Given the description of an element on the screen output the (x, y) to click on. 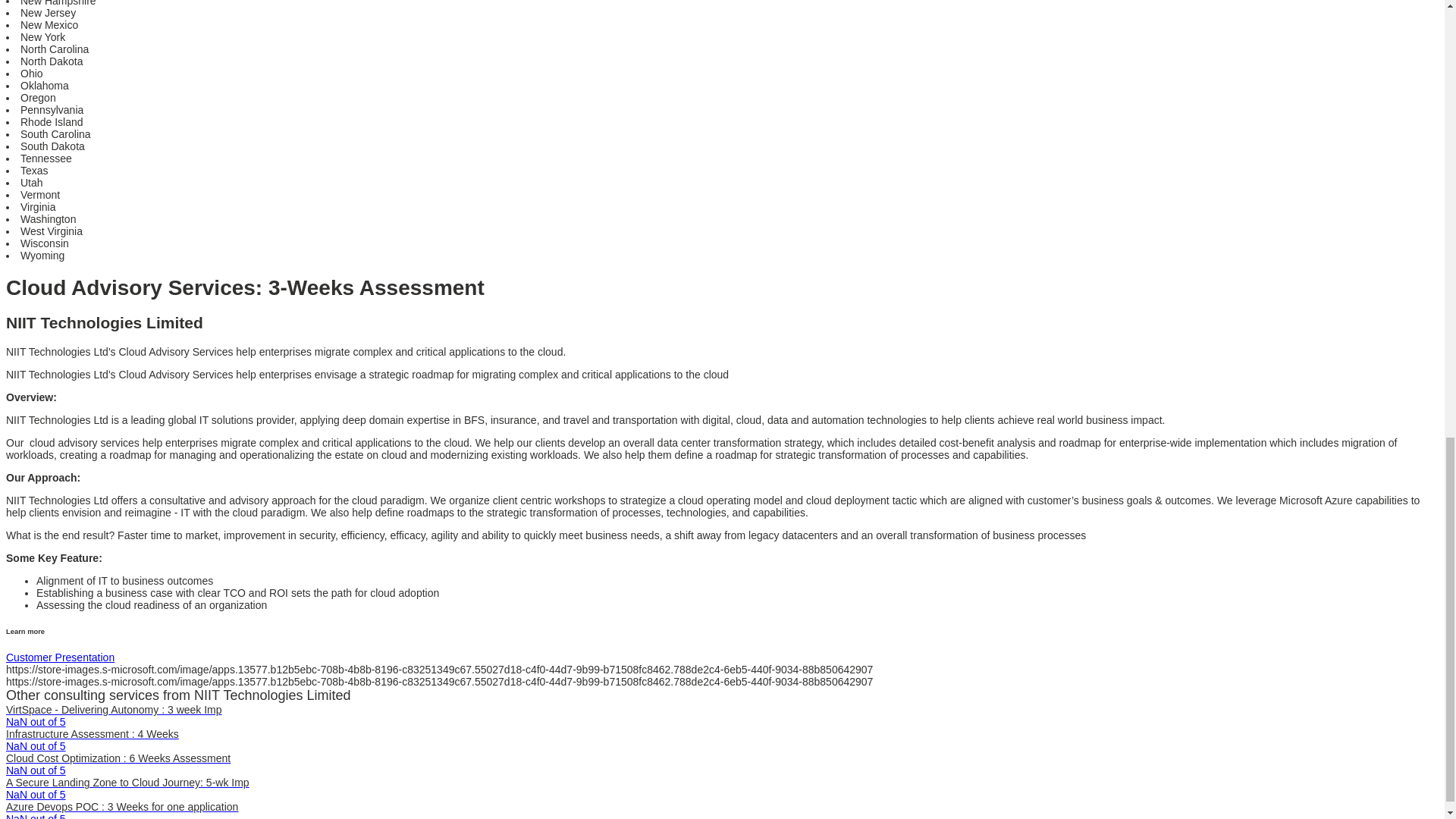
Infrastructure Assessment : 4 Weeks (92, 734)
Azure Devops POC : 3 Weeks for one application (121, 806)
Customer Presentation (60, 657)
VirtSpace - Delivering Autonomy : 3 week Imp (113, 709)
Cloud Cost Optimization : 6 Weeks Assessment (117, 758)
A Secure Landing Zone to Cloud Journey: 5-wk Imp (126, 782)
